Given the description of an element on the screen output the (x, y) to click on. 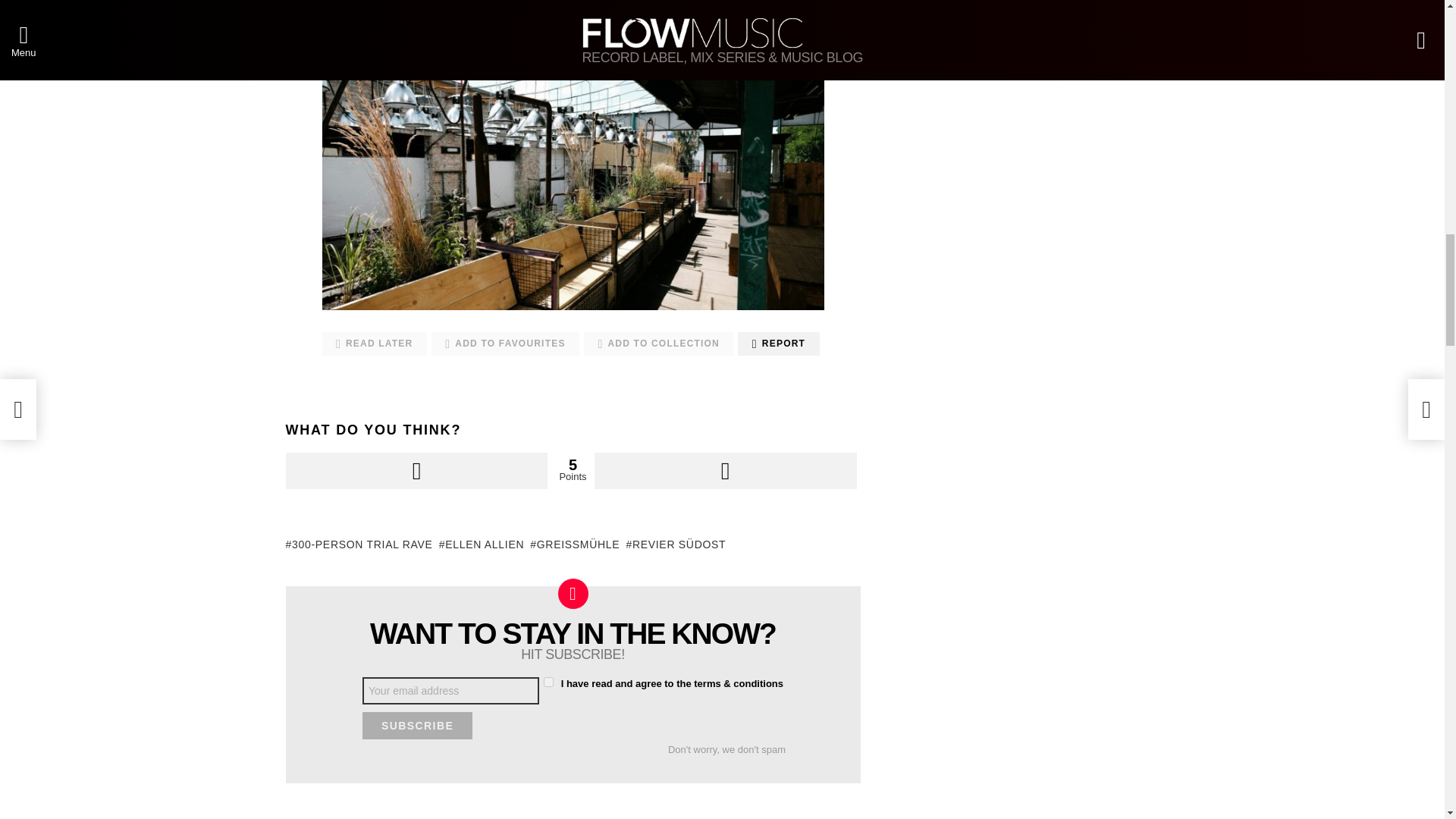
READ LATER (373, 343)
SUBSCRIBE (416, 725)
1 (548, 682)
